Given the description of an element on the screen output the (x, y) to click on. 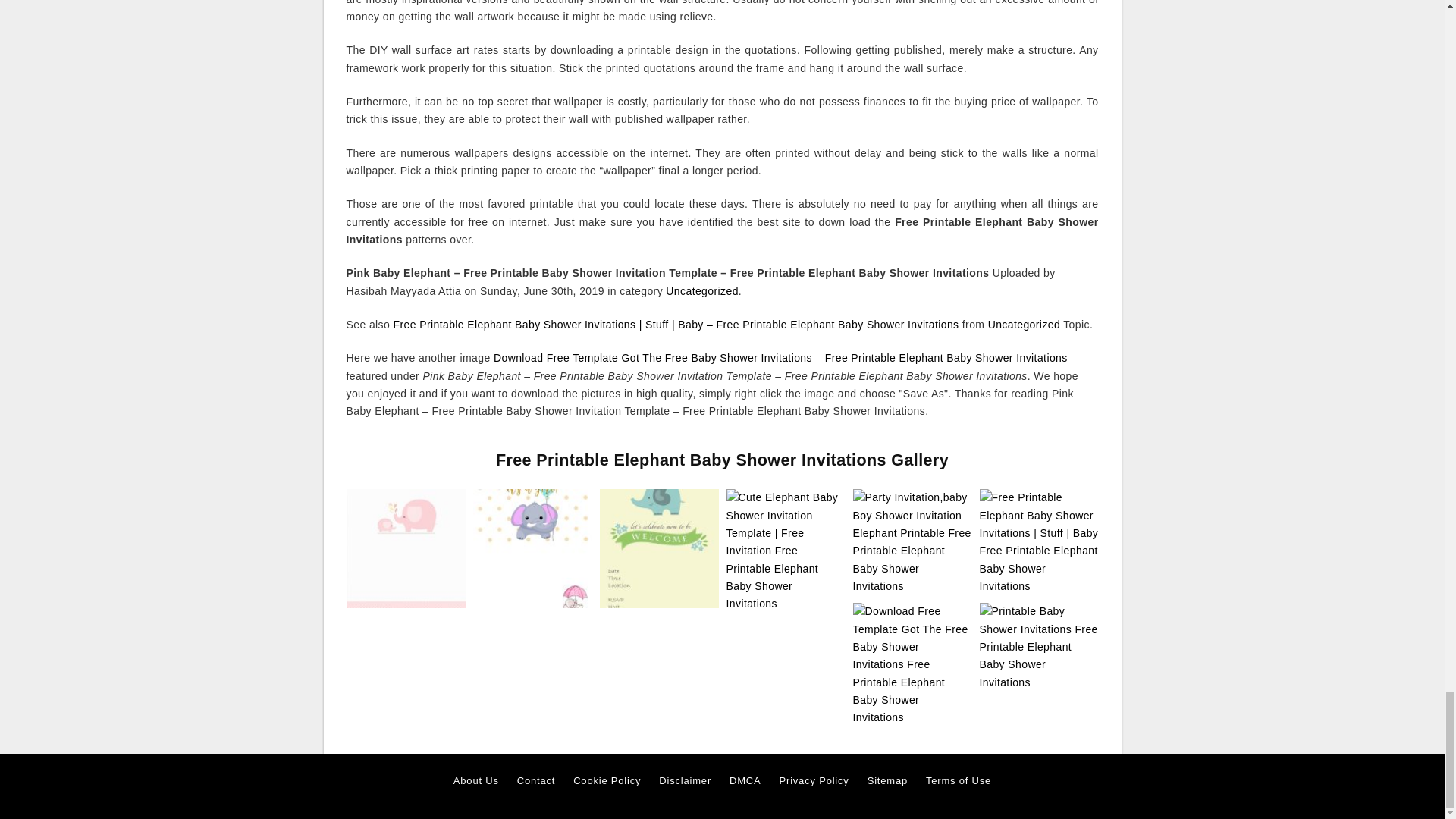
Sitemap (887, 781)
Uncategorized (701, 291)
About Us (475, 781)
Contact (535, 781)
Privacy Policy (813, 781)
Disclaimer (685, 781)
